Given the description of an element on the screen output the (x, y) to click on. 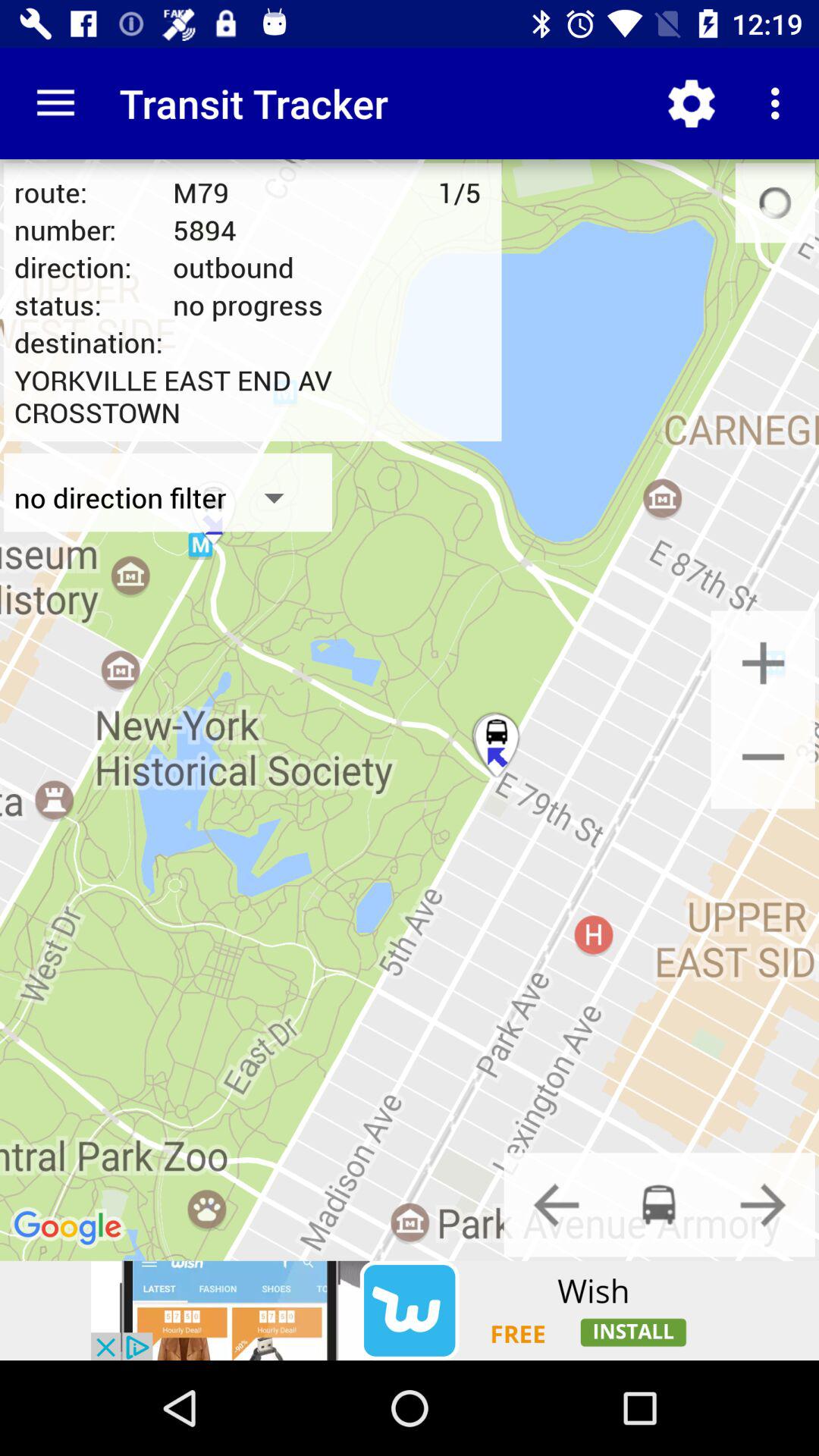
resize option (762, 662)
